Given the description of an element on the screen output the (x, y) to click on. 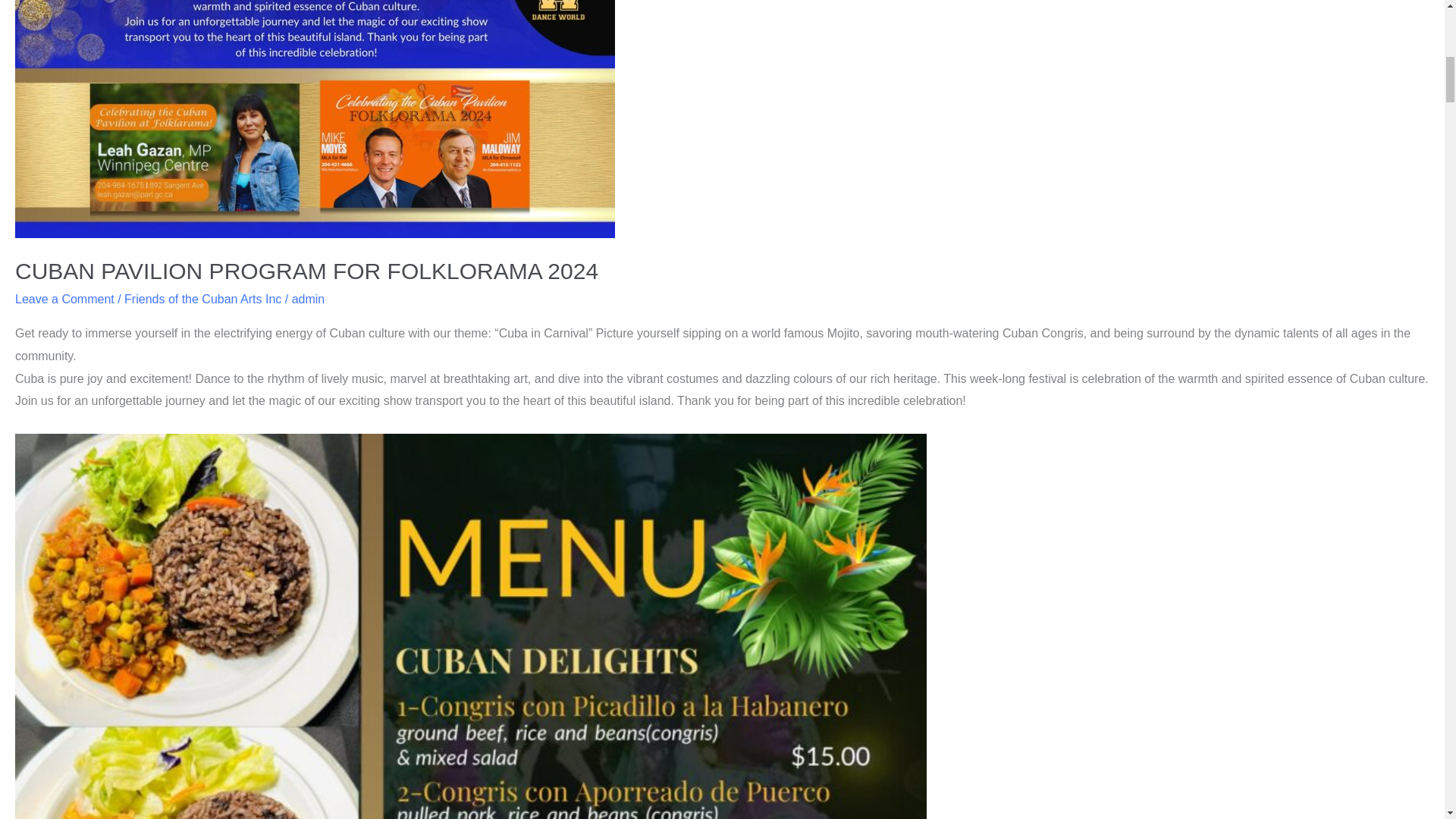
View all posts by admin (308, 298)
